Given the description of an element on the screen output the (x, y) to click on. 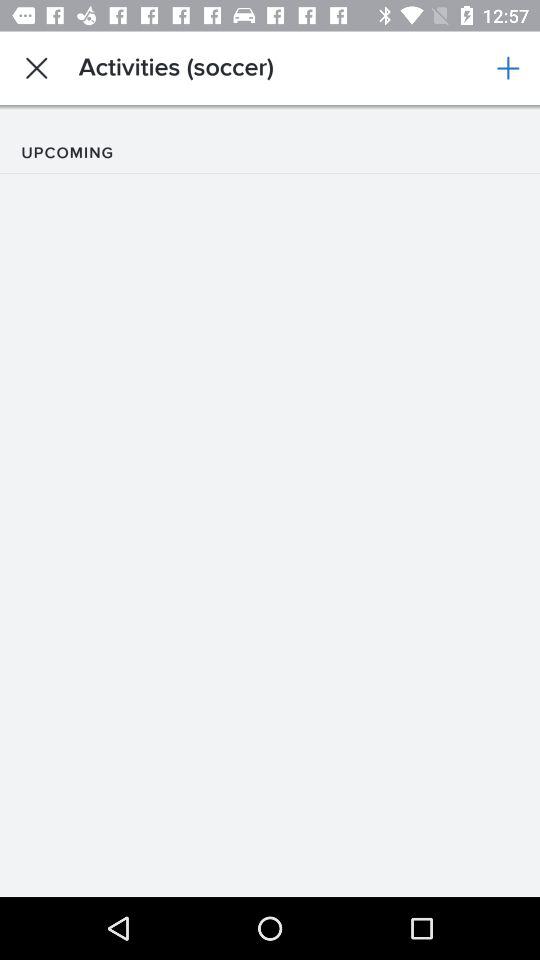
select the app to the left of activities (soccer) icon (36, 68)
